Given the description of an element on the screen output the (x, y) to click on. 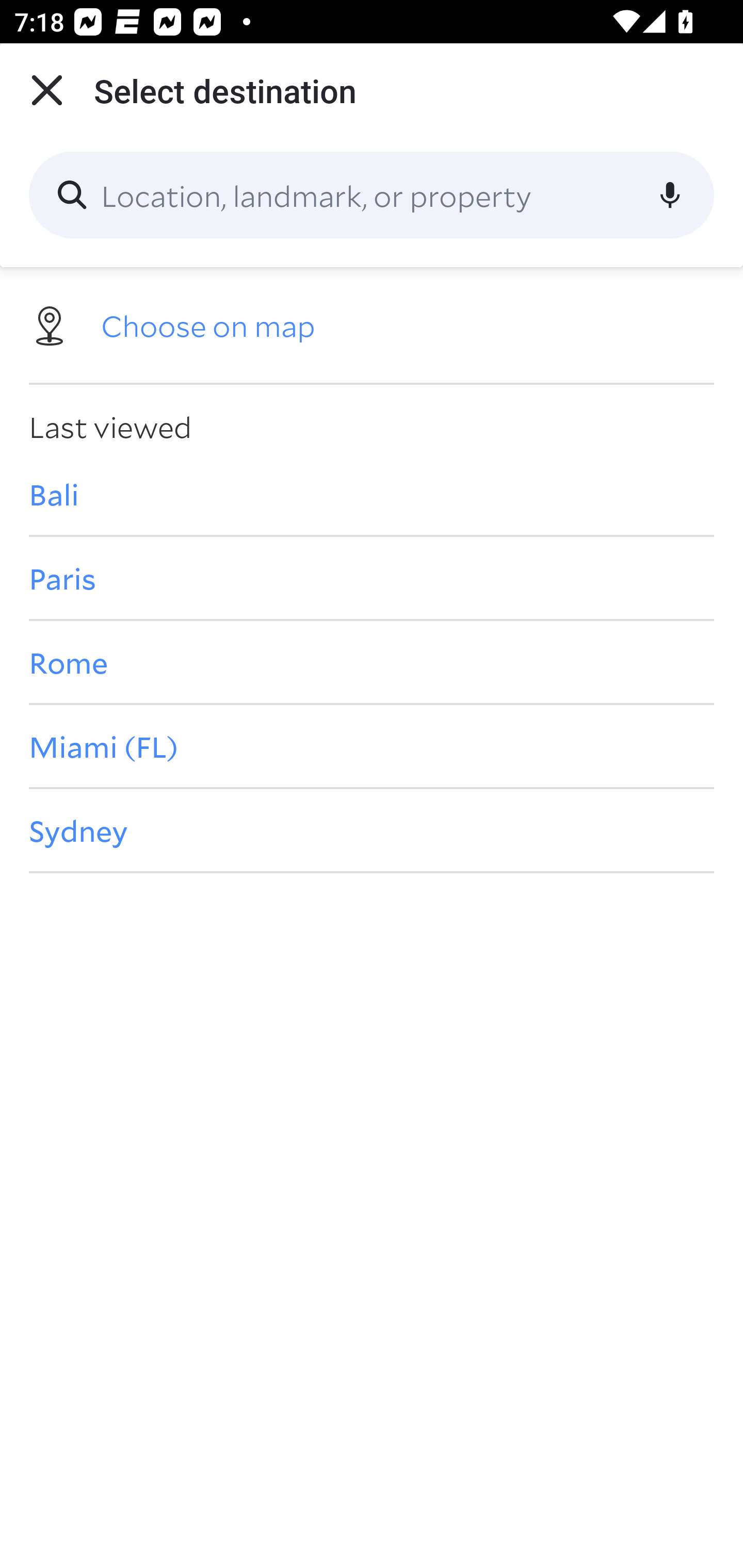
Location, landmark, or property (371, 195)
Choose on map (371, 324)
Bali (371, 493)
Paris (371, 577)
Rome (371, 661)
Miami (FL) (371, 746)
Sydney (371, 829)
